Given the description of an element on the screen output the (x, y) to click on. 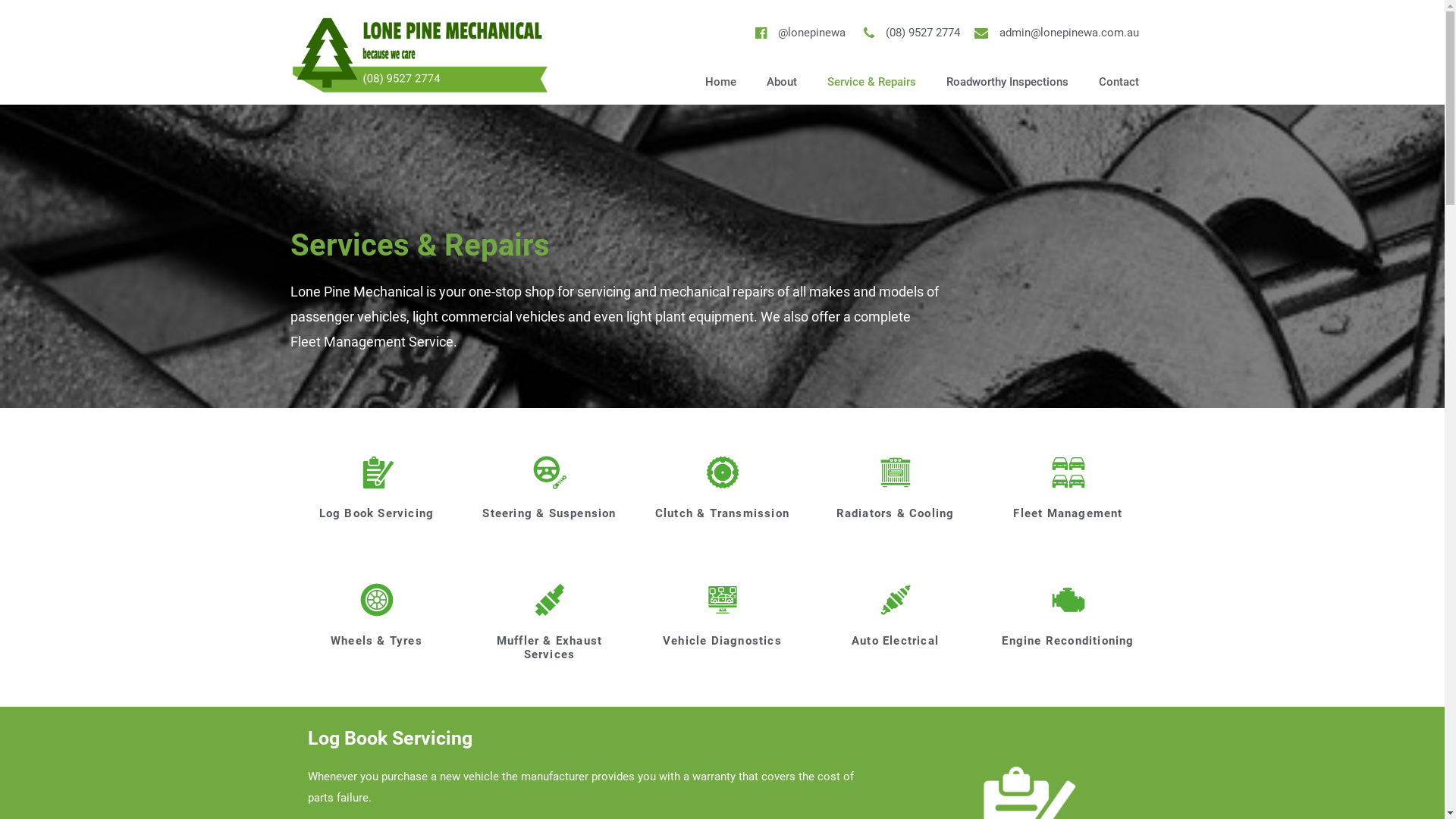
Clutch & Transmission Element type: text (722, 513)
exhaust Element type: hover (549, 599)
clutch Element type: hover (722, 472)
Contact Element type: text (1118, 81)
Home Element type: text (720, 81)
fleet Element type: hover (1068, 472)
Steering & Suspension Element type: text (548, 513)
Engine Reconditioning Element type: text (1067, 640)
@lonepinewa Element type: text (797, 32)
auto electrical Element type: hover (895, 599)
Auto Electrical Element type: text (894, 640)
Log Book Servicing Element type: text (376, 513)
Fleet Management Element type: text (1067, 513)
Roadworthy Inspections Element type: text (1007, 81)
About Element type: text (781, 81)
clipboard Element type: hover (376, 472)
Service & Repairs Element type: text (871, 81)
Wheels & Tyres Element type: text (376, 640)
steering Element type: hover (549, 472)
Vehicle Diagnostics Element type: text (721, 640)
engine green Element type: hover (1068, 599)
radiator Element type: hover (895, 472)
(08) 9527 2774 Element type: text (908, 32)
Radiators & Cooling Element type: text (895, 513)
admin@lonepinewa.com.au Element type: text (1055, 32)
Muffler & Exhaust Services Element type: text (549, 647)
diagnostics Element type: hover (722, 599)
wheel Element type: hover (376, 599)
